Given the description of an element on the screen output the (x, y) to click on. 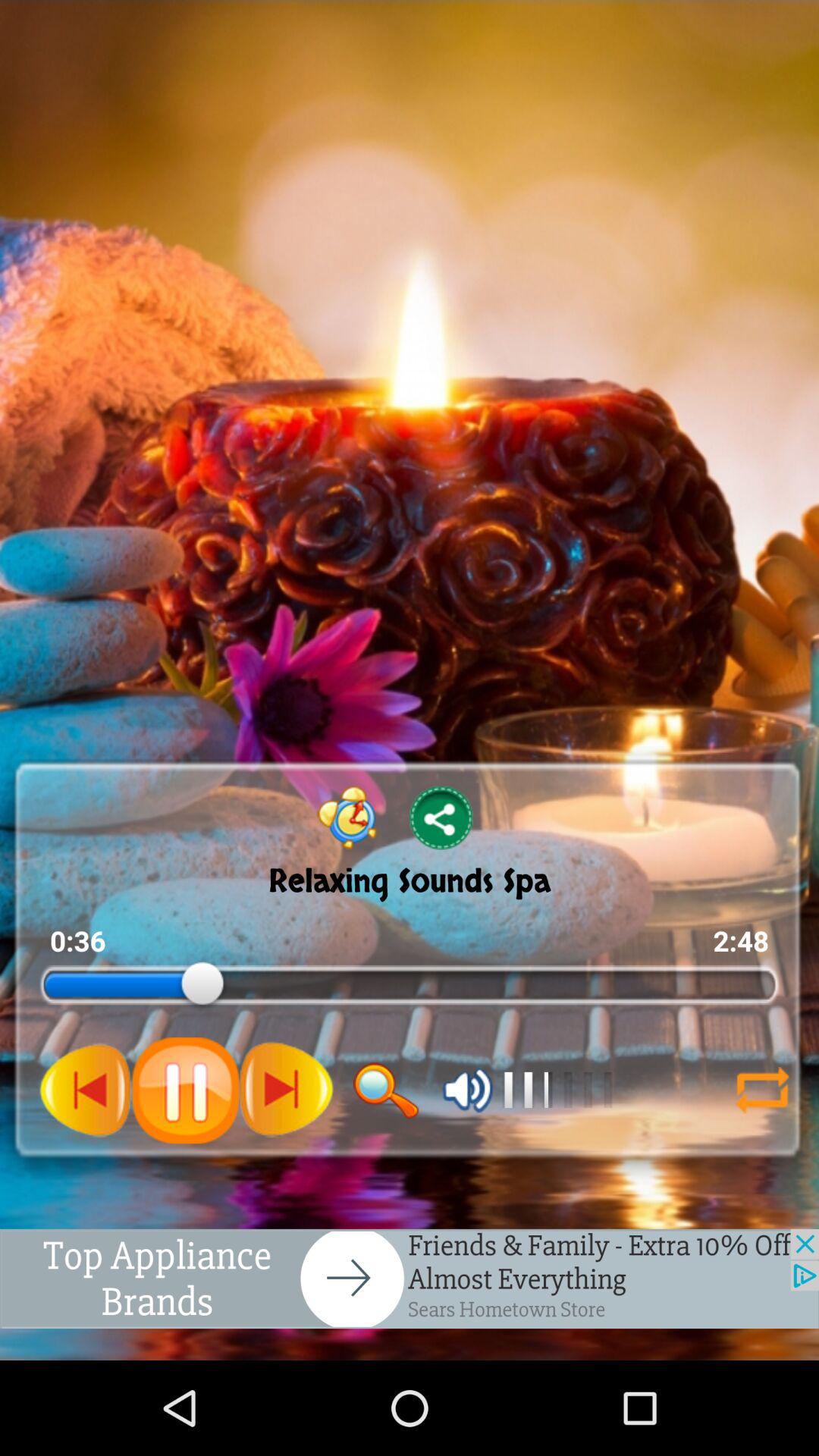
share page (441, 817)
